Given the description of an element on the screen output the (x, y) to click on. 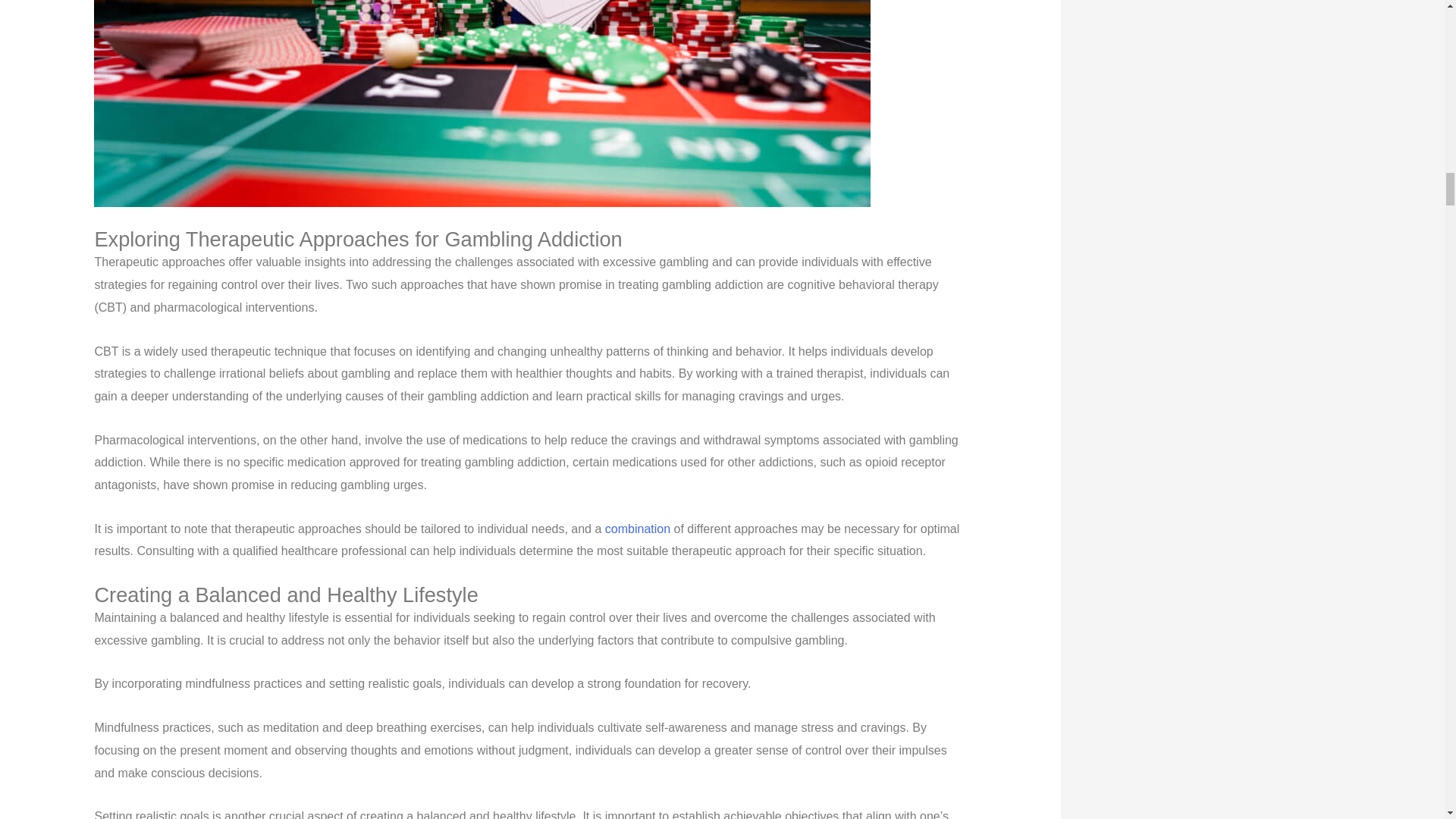
combination (637, 528)
